Given the description of an element on the screen output the (x, y) to click on. 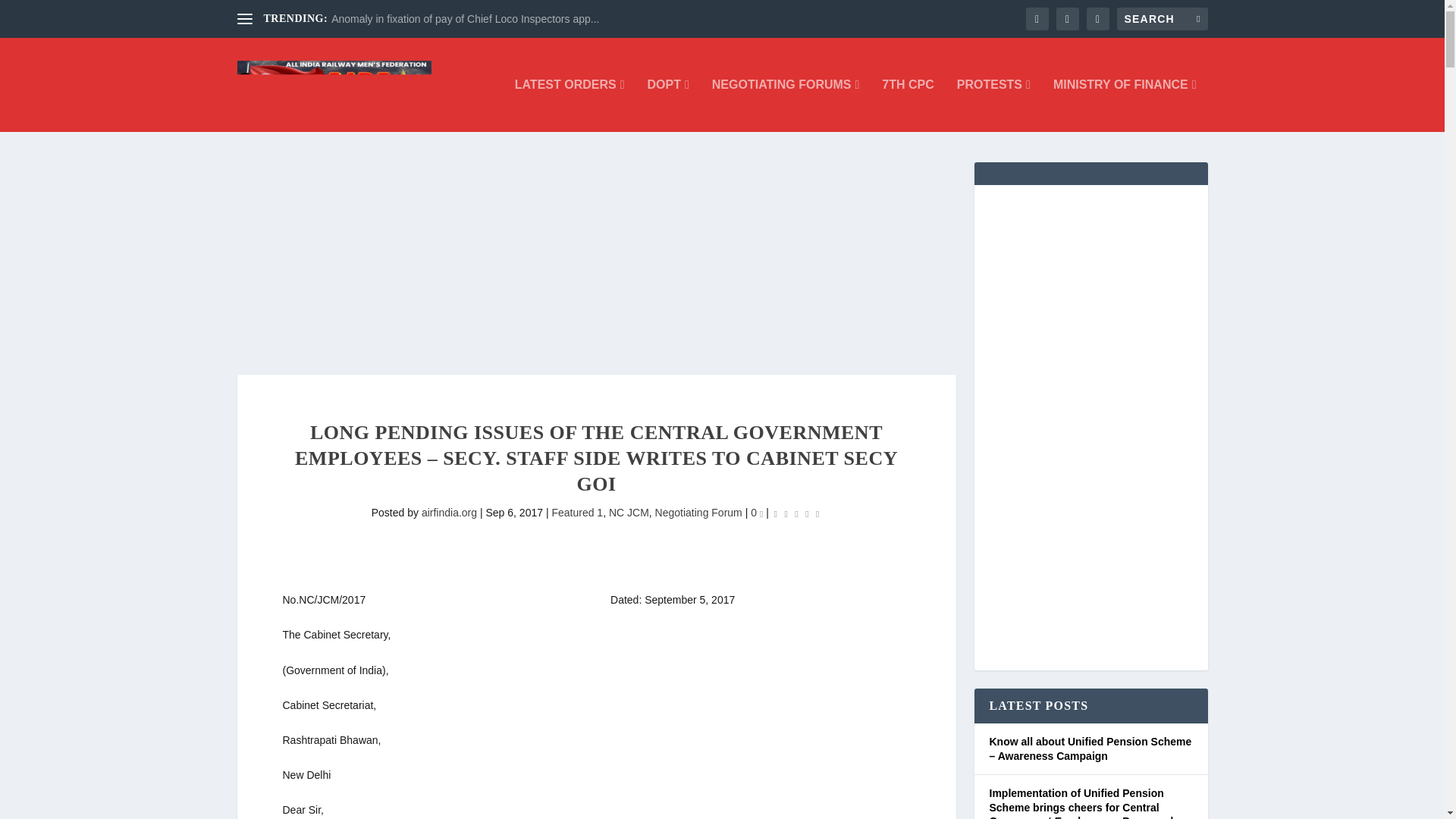
Anomaly in fixation of pay of Chief Loco Inspectors app... (464, 19)
Search for: (1161, 18)
LATEST ORDERS (569, 104)
Rating: 0.00 (796, 513)
Posts by airfindia.org (449, 512)
